Given the description of an element on the screen output the (x, y) to click on. 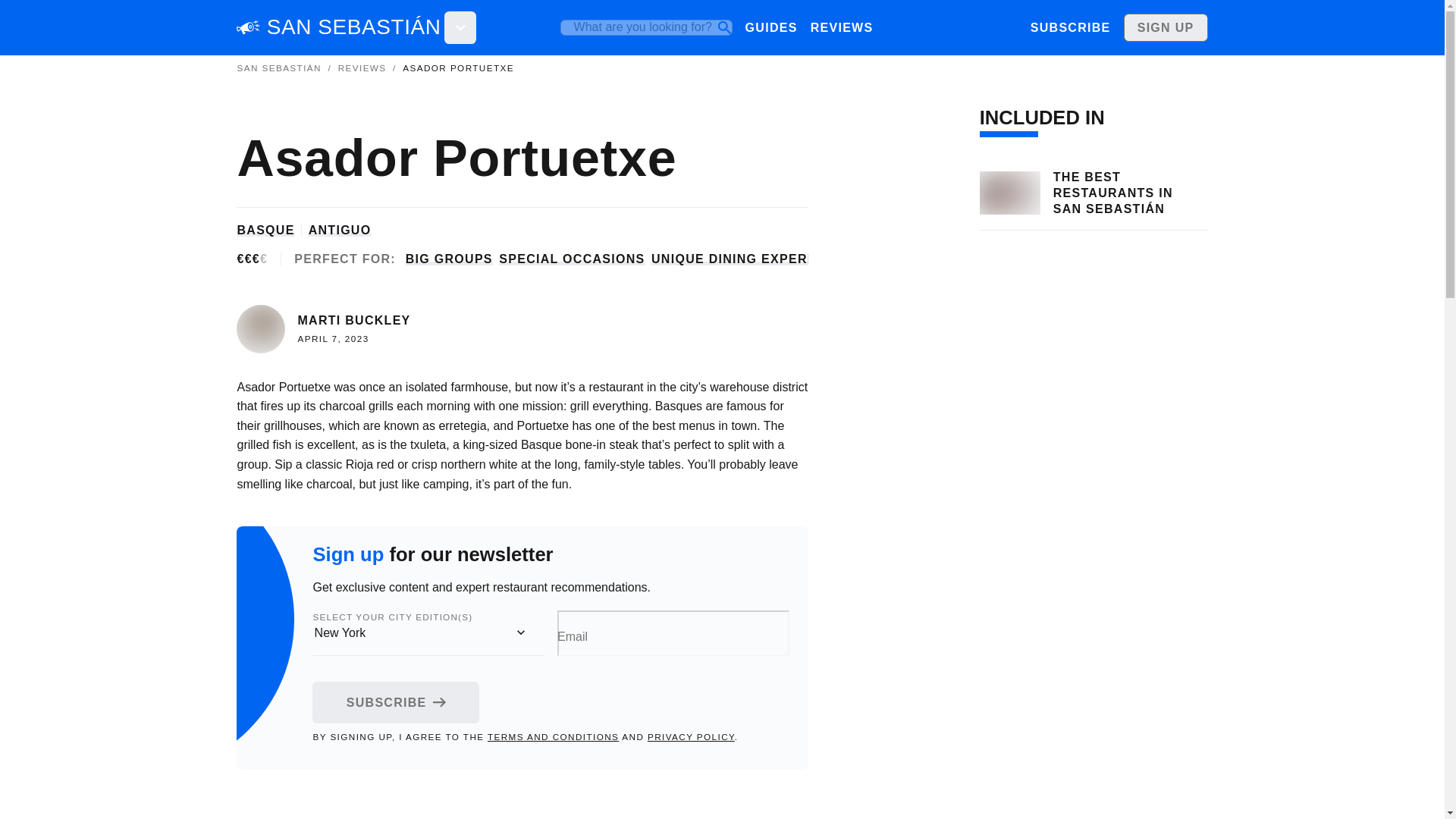
PRIVACY POLICY (691, 737)
REVIEWS (362, 67)
BASQUE (264, 229)
SIGN UP (1166, 27)
ANTIGUO (339, 229)
UNIQUE DINING EXPERIENCES (754, 258)
SUBSCRIBE (1069, 27)
GUIDES (770, 27)
What are you looking for? (646, 27)
BIG GROUPS (449, 258)
SUBSCRIBE (396, 702)
SPECIAL OCCASIONS (572, 258)
REVIEWS (841, 27)
TERMS AND CONDITIONS (552, 737)
